Given the description of an element on the screen output the (x, y) to click on. 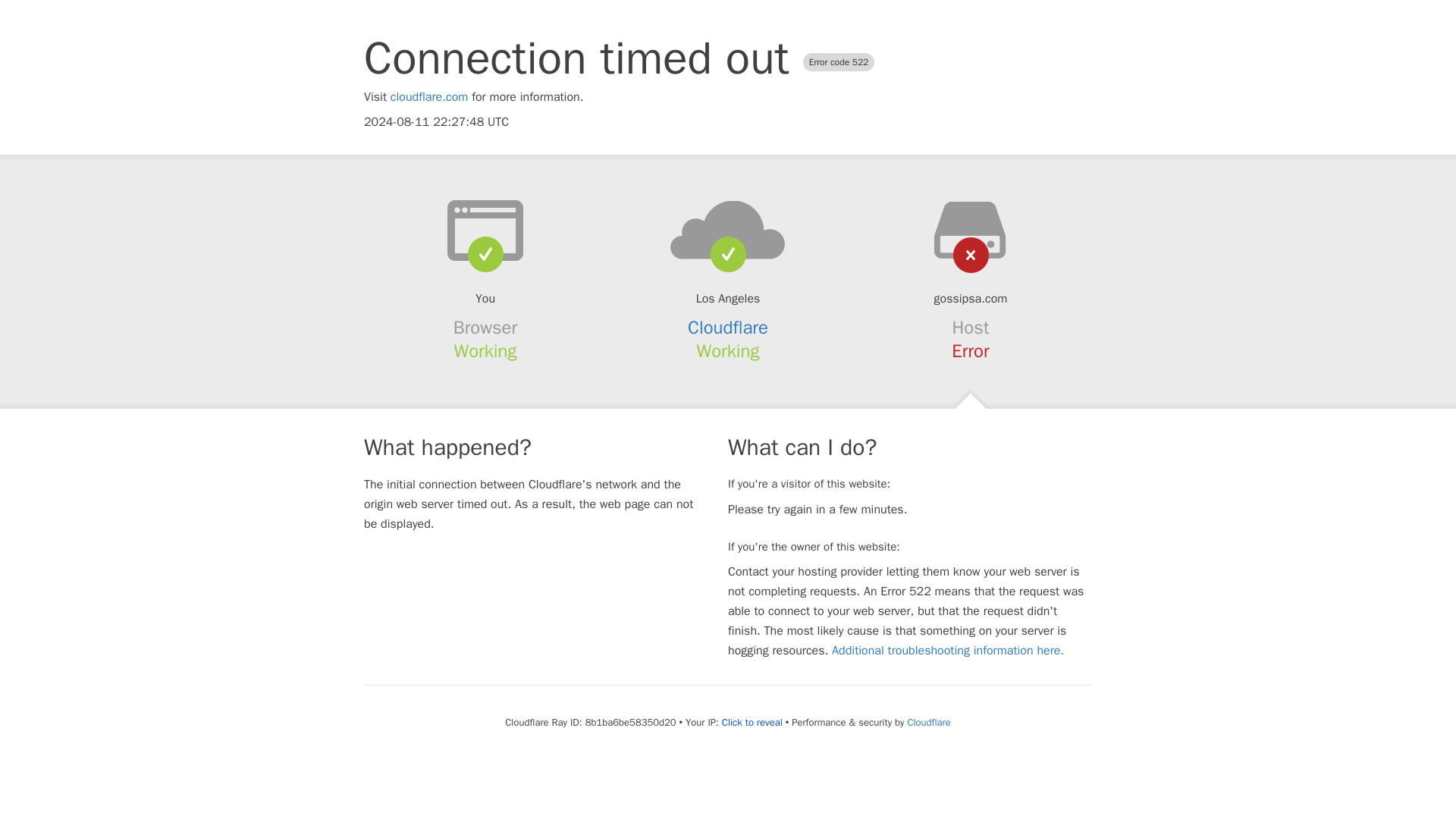
cloudflare.com (429, 96)
Cloudflare (727, 327)
Click to reveal (752, 722)
Additional troubleshooting information here. (947, 650)
Cloudflare (928, 721)
